Given the description of an element on the screen output the (x, y) to click on. 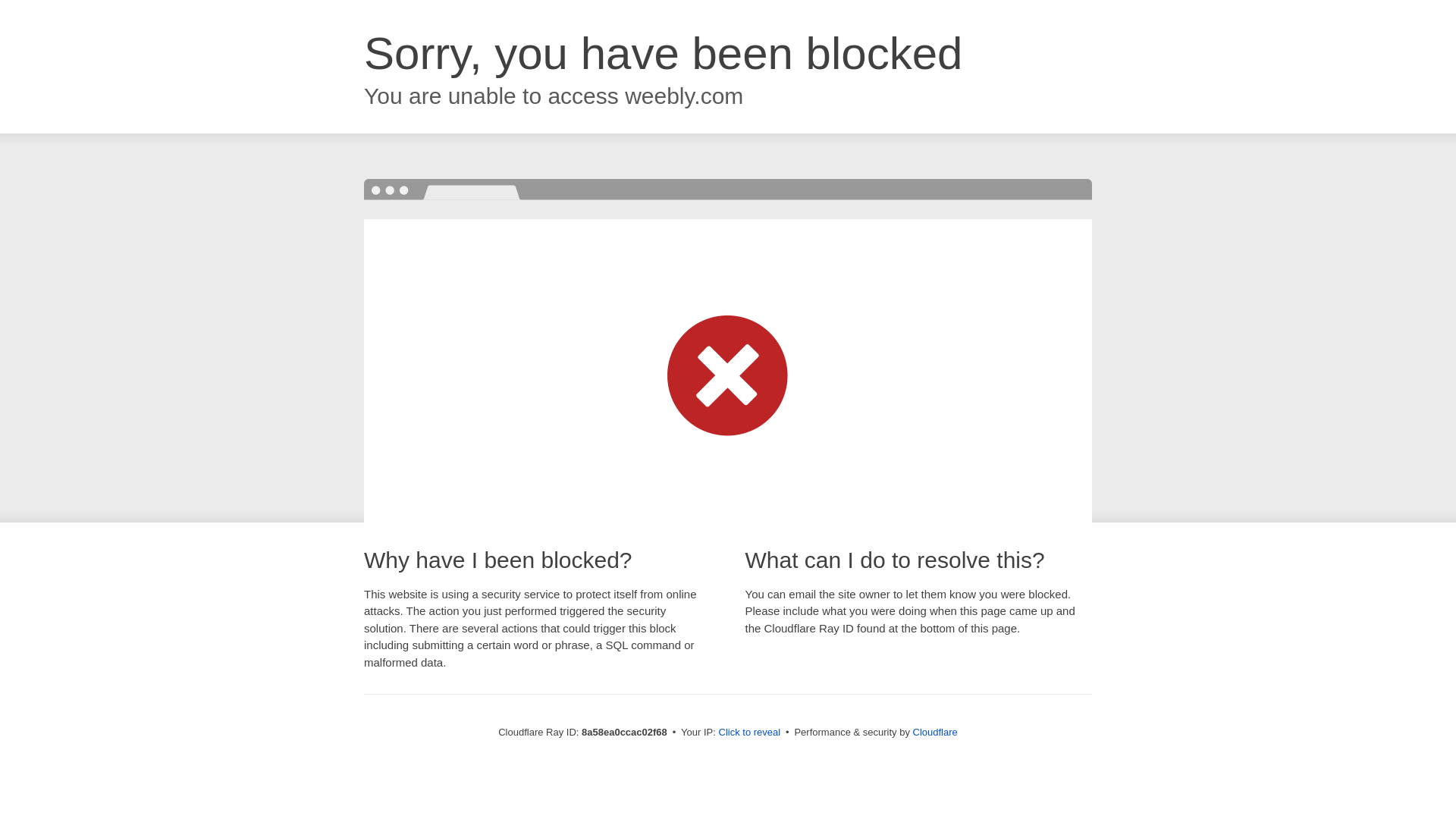
Cloudflare (935, 731)
Click to reveal (749, 732)
